Given the description of an element on the screen output the (x, y) to click on. 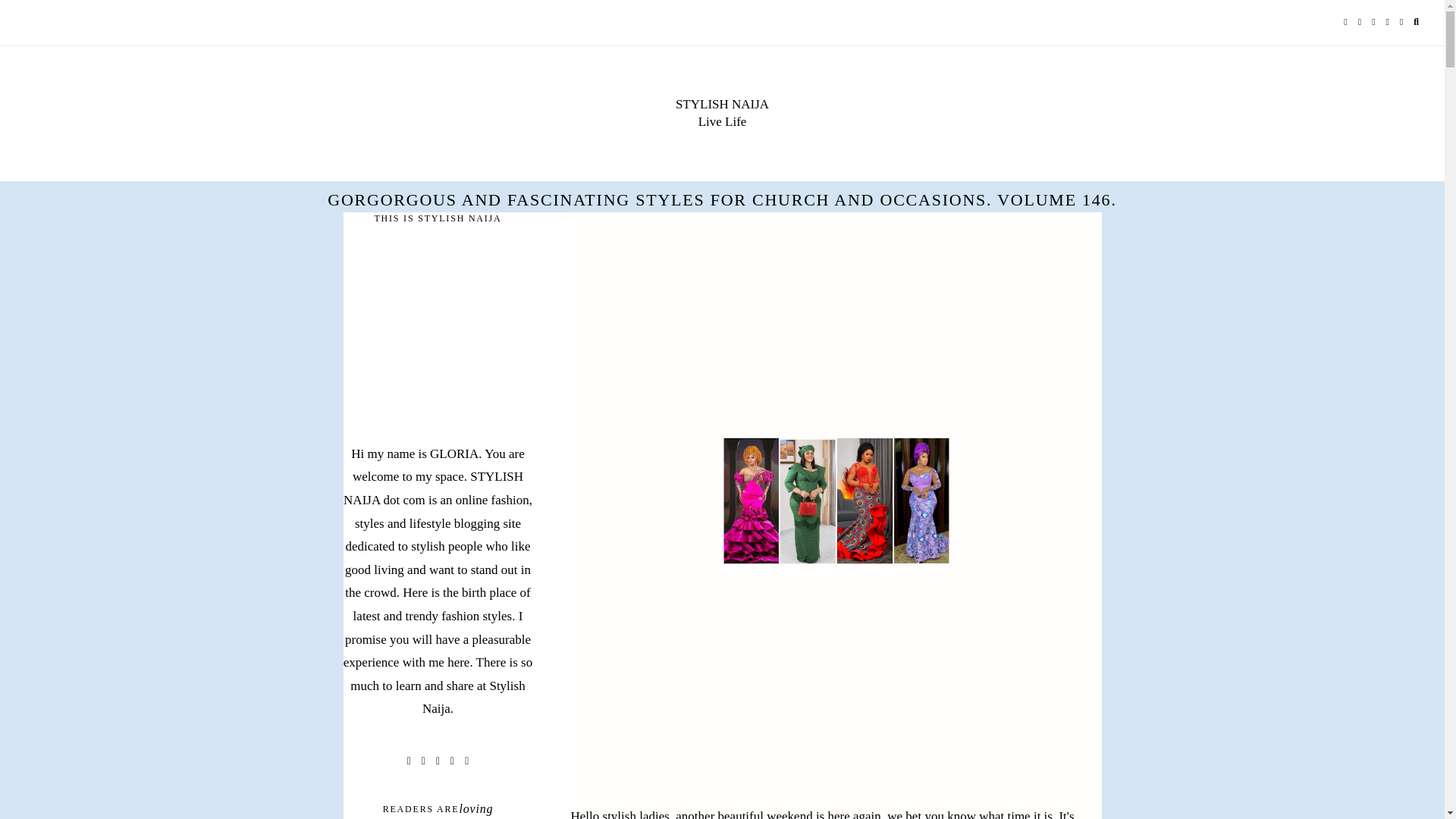
STYLISH NAIJA (721, 104)
HOME (50, 22)
Stylish Naija (721, 104)
CATEGORIES (235, 22)
BLOG (96, 22)
ABOUT ME (154, 22)
